Given the description of an element on the screen output the (x, y) to click on. 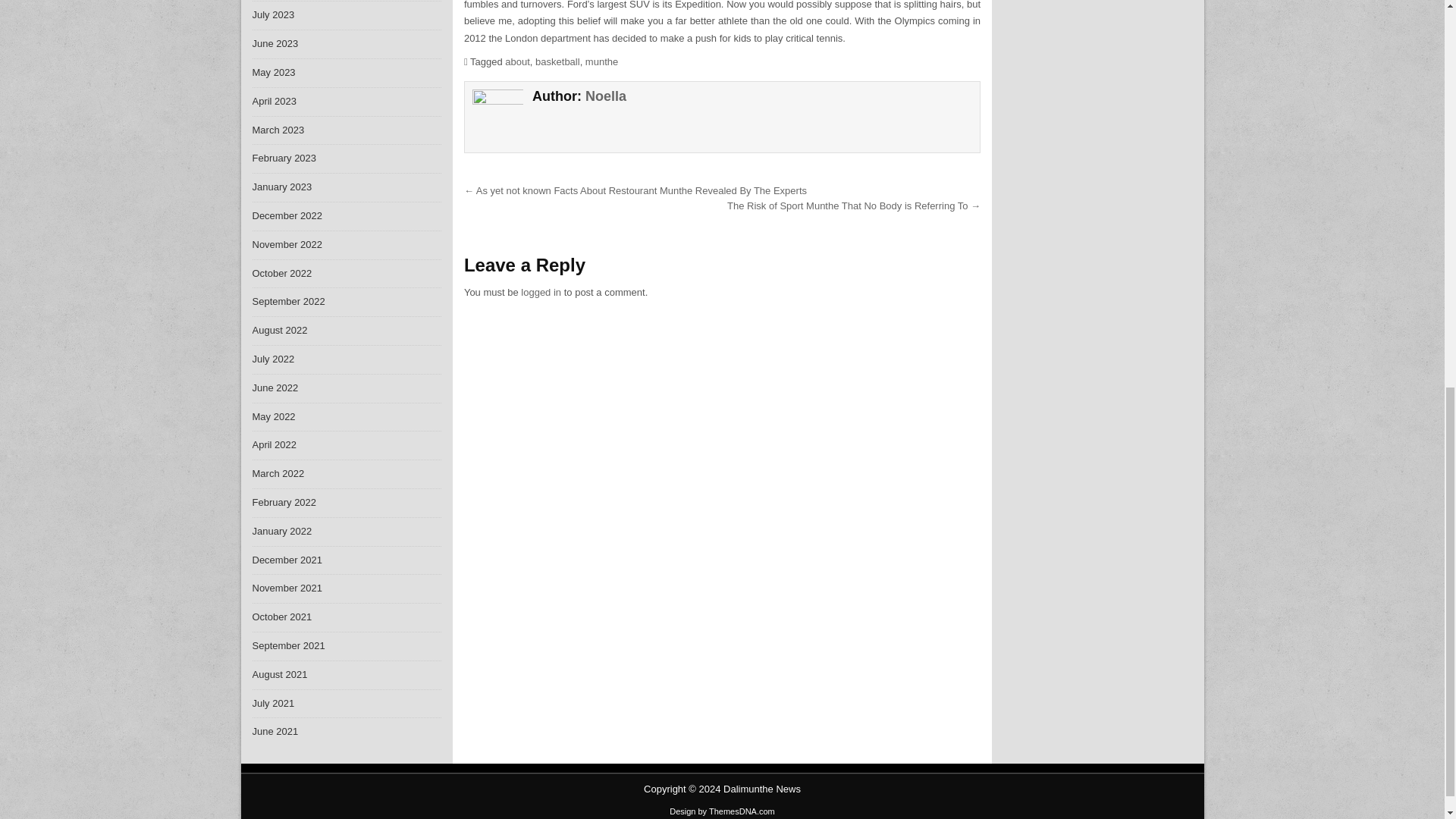
basketball (557, 61)
munthe (601, 61)
June 2023 (274, 43)
Noella (605, 96)
logged in (540, 292)
July 2023 (272, 14)
about (517, 61)
